Given the description of an element on the screen output the (x, y) to click on. 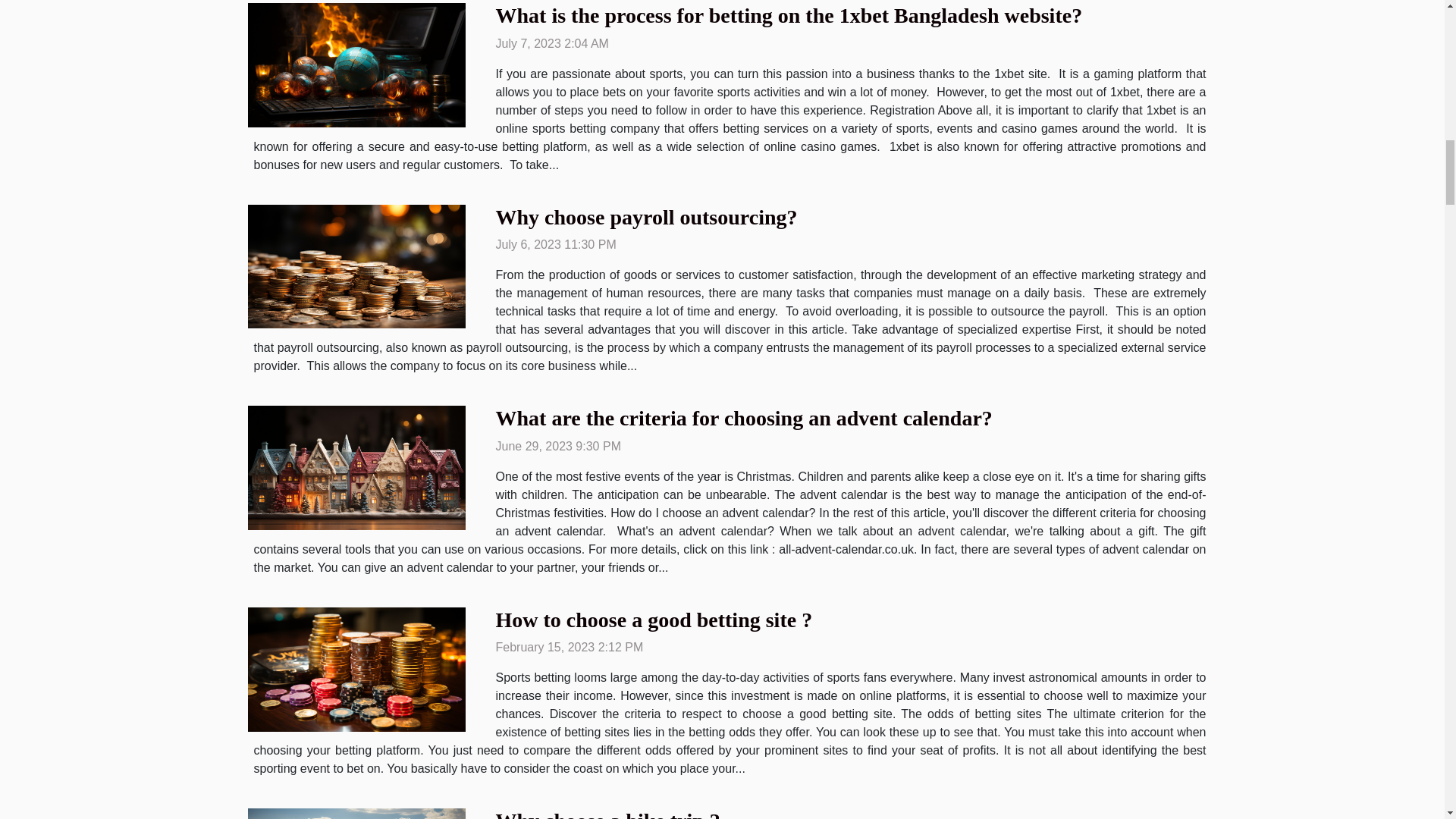
Why choose payroll outsourcing? (646, 217)
Why choose payroll outsourcing? (646, 217)
What are the criteria for choosing an advent calendar? (744, 417)
What are the criteria for choosing an advent calendar? (744, 417)
Why choose a bike trip ? (608, 814)
How to choose a good betting site ? (654, 619)
How to choose a good betting site ? (654, 619)
